Given the description of an element on the screen output the (x, y) to click on. 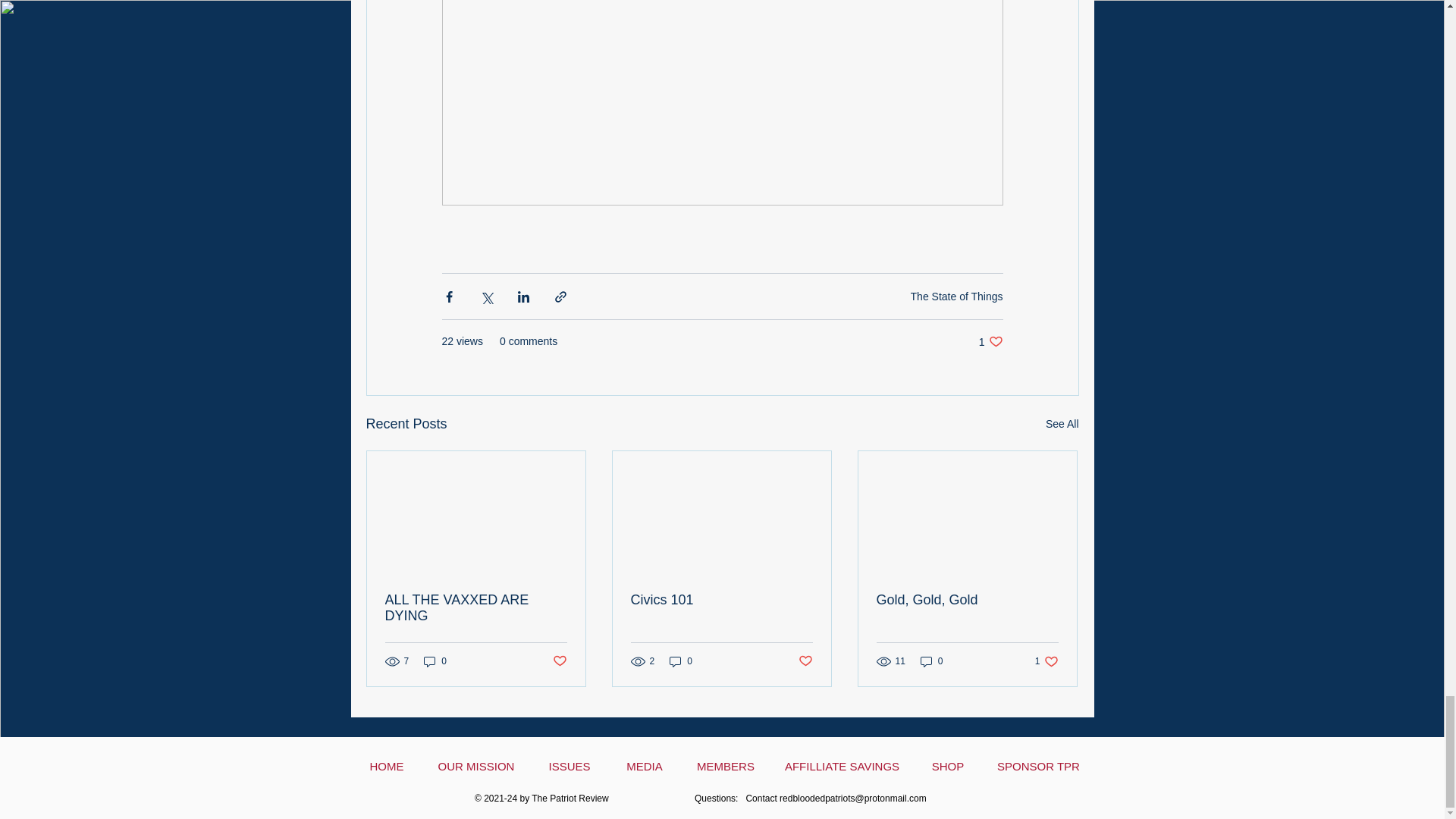
Post not marked as liked (558, 661)
The State of Things (1046, 661)
Civics 101 (957, 296)
Post not marked as liked (721, 600)
See All (804, 661)
0 (1061, 423)
0 (990, 341)
0 (681, 661)
ALL THE VAXXED ARE DYING (931, 661)
Gold, Gold, Gold (435, 661)
